Given the description of an element on the screen output the (x, y) to click on. 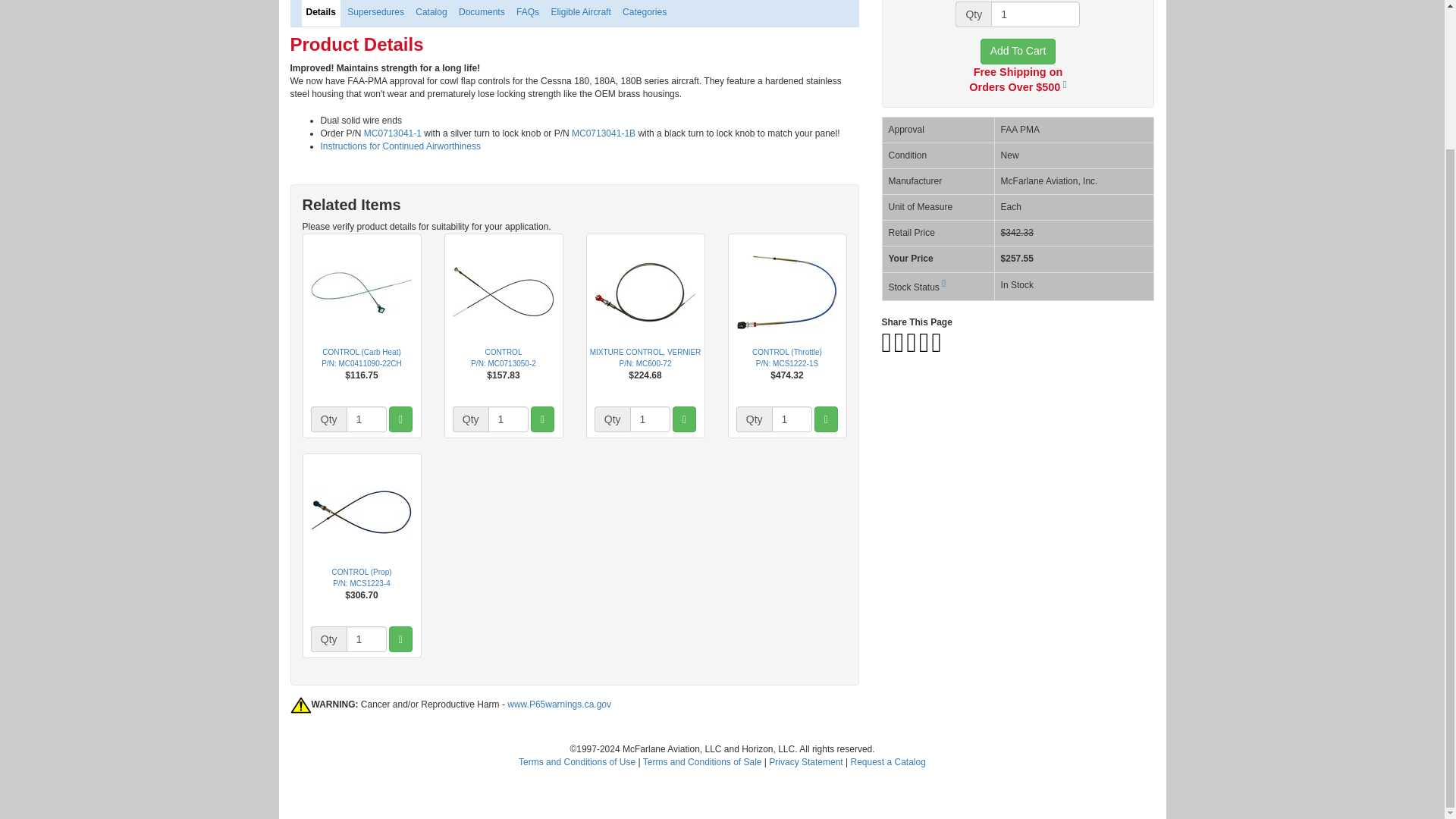
1 (366, 638)
Catalog (430, 13)
Add To Cart (1018, 51)
Share on LinkedIn (923, 348)
1 (649, 419)
Share on Pinterest (913, 348)
MC0713041-1B (603, 132)
Documents (481, 13)
Share on Facebook (885, 348)
Eligible Aircraft (580, 13)
Instructions for Continued Airworthiness (400, 145)
1 (791, 419)
Details (320, 13)
FAQs (527, 13)
